Given the description of an element on the screen output the (x, y) to click on. 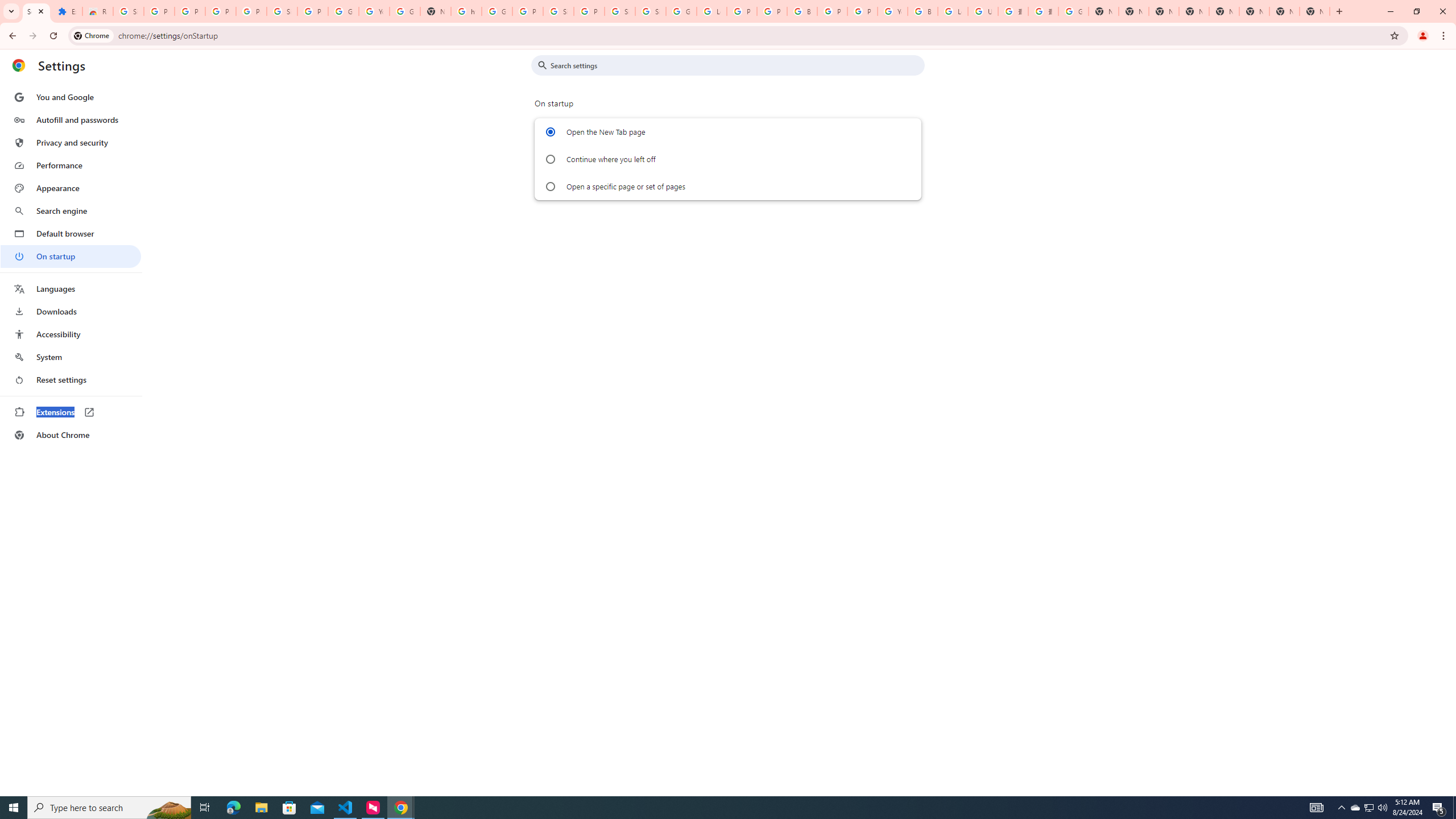
Settings - On startup (36, 11)
Open the New Tab page (550, 131)
On startup (70, 255)
Open a specific page or set of pages (550, 186)
Performance (70, 164)
YouTube (373, 11)
Reset settings (70, 379)
